Given the description of an element on the screen output the (x, y) to click on. 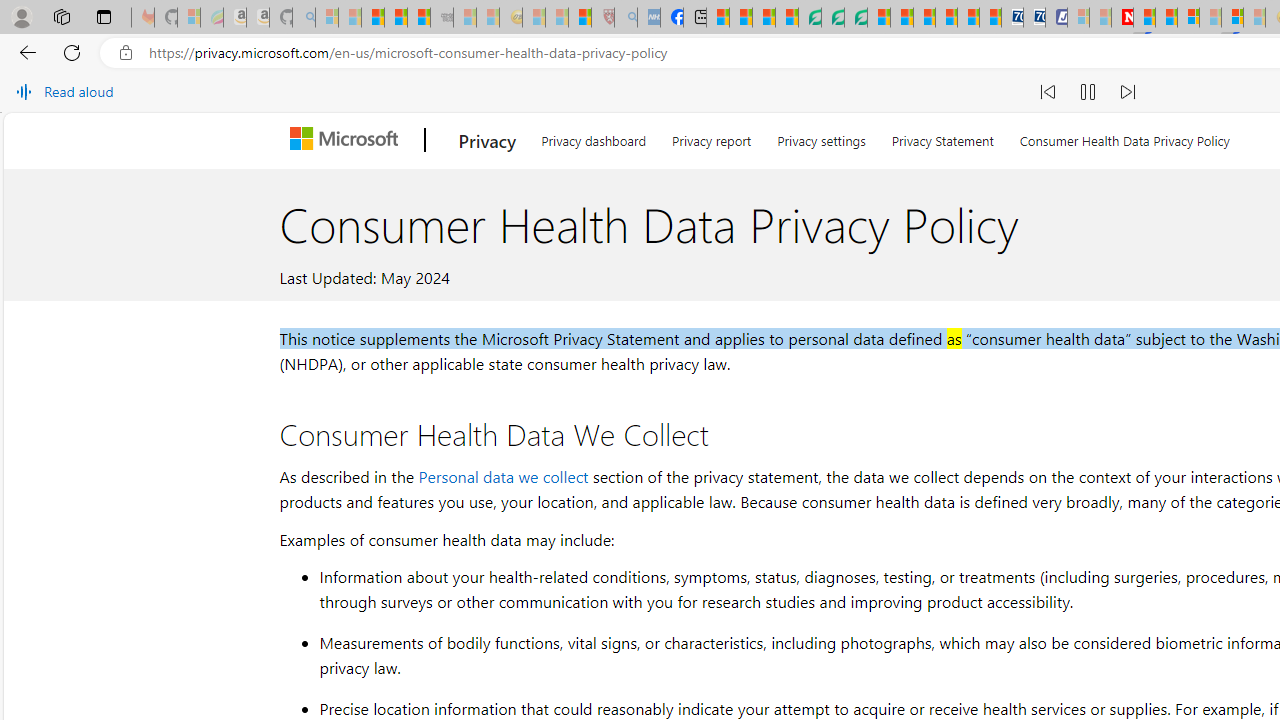
Cheap Car Rentals - Save70.com (1012, 17)
14 Common Myths Debunked By Scientific Facts (1166, 17)
World - MSN (763, 17)
Privacy Statement (942, 137)
NCL Adult Asthma Inhaler Choice Guideline - Sleeping (648, 17)
Microsoft Start - Sleeping (1100, 17)
list of asthma inhalers uk - Search - Sleeping (625, 17)
Recipes - MSN - Sleeping (534, 17)
